Given the description of an element on the screen output the (x, y) to click on. 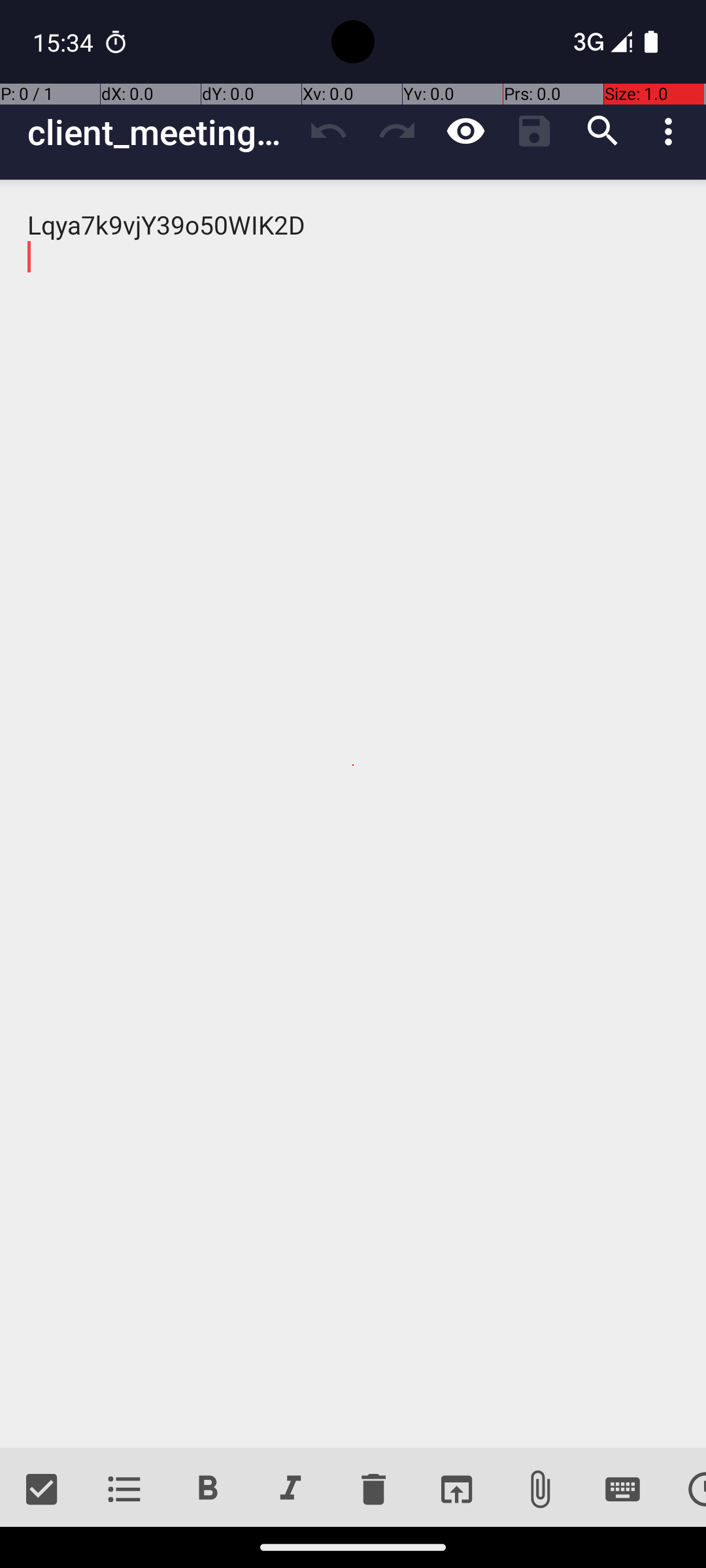
client_meetings_schedule_Sa7l Element type: android.widget.TextView (160, 131)
Lqya7k9vjY39o50WIK2D
 Element type: android.widget.EditText (353, 813)
